Given the description of an element on the screen output the (x, y) to click on. 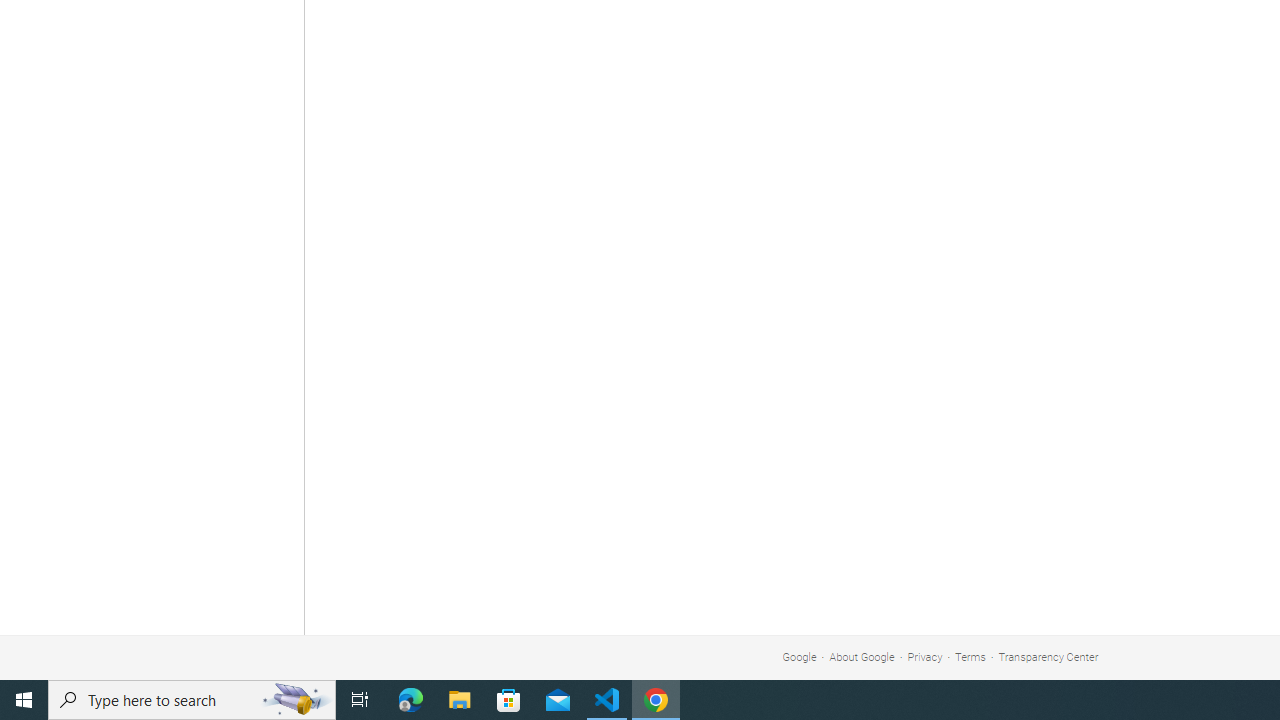
Google (799, 656)
About Google (861, 656)
Transparency Center (1048, 656)
